Given the description of an element on the screen output the (x, y) to click on. 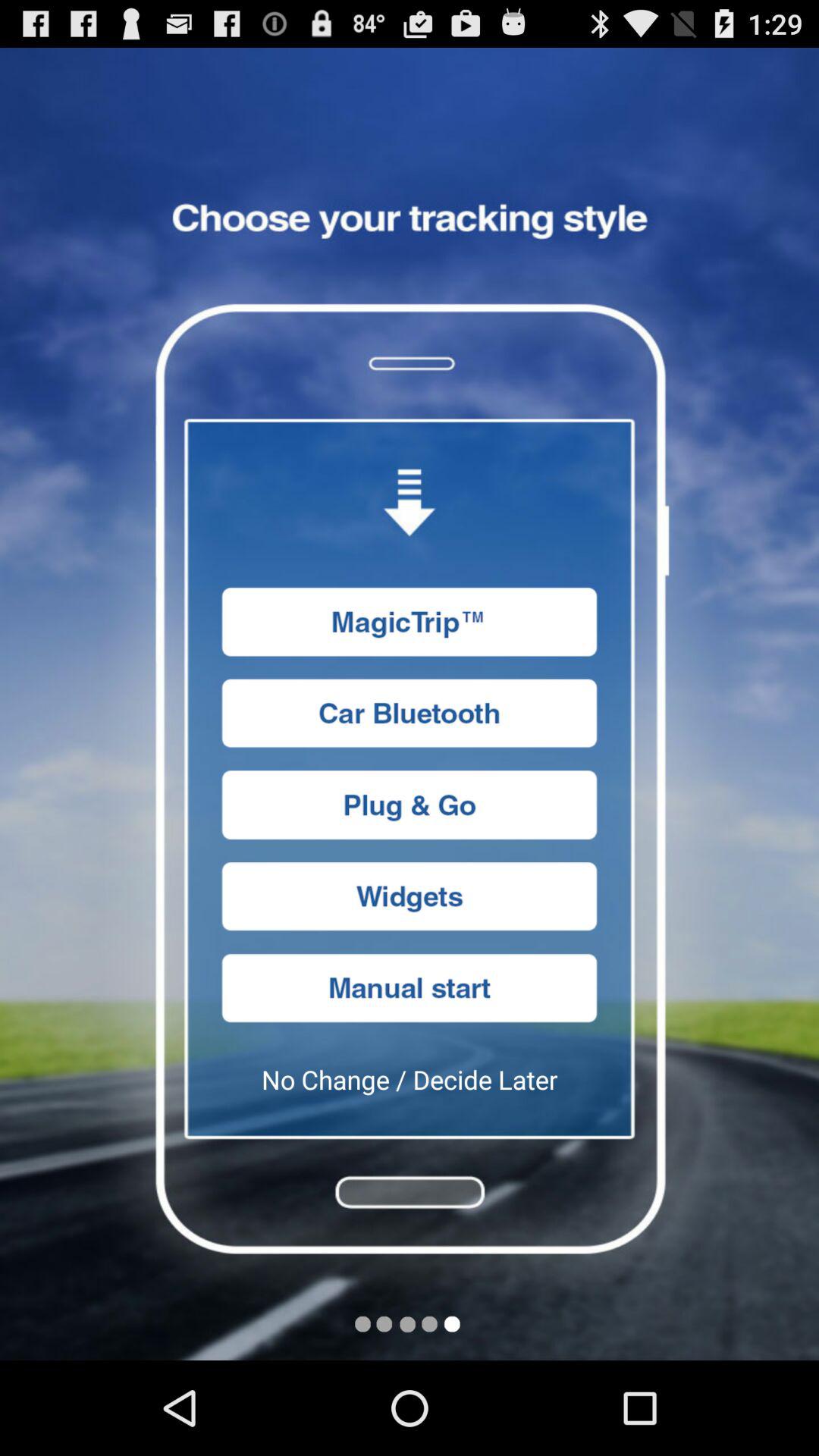
go to plug go option (409, 804)
